Given the description of an element on the screen output the (x, y) to click on. 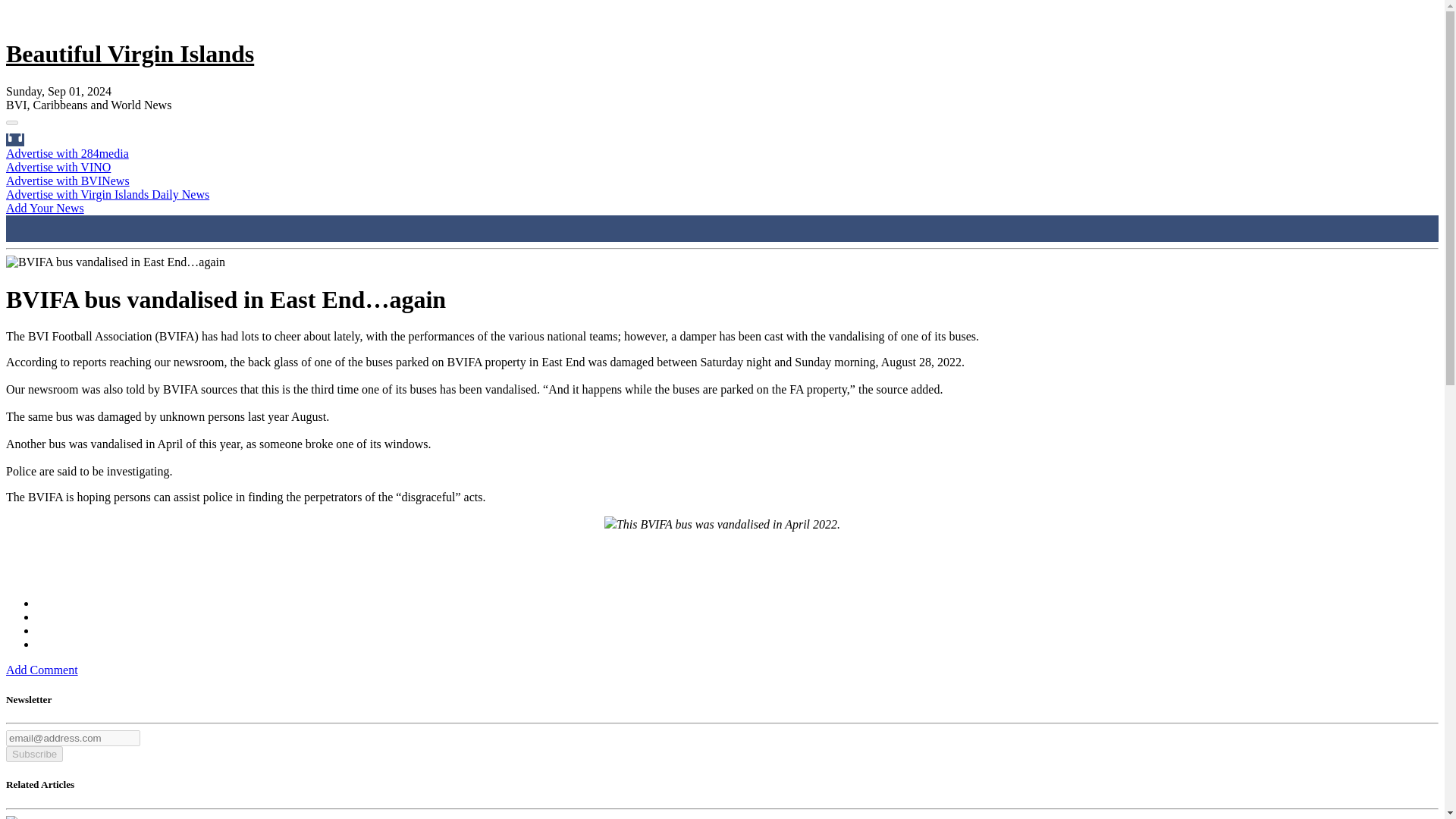
Advertise with BVINews (67, 180)
Subscribe (33, 754)
Beautiful Virgin Islands (129, 53)
Add Comment (41, 669)
Advertise with 284media (67, 153)
Add Your News (44, 207)
Advertise with Virgin Islands Daily News (107, 194)
Advertise with VINO (57, 166)
